Given the description of an element on the screen output the (x, y) to click on. 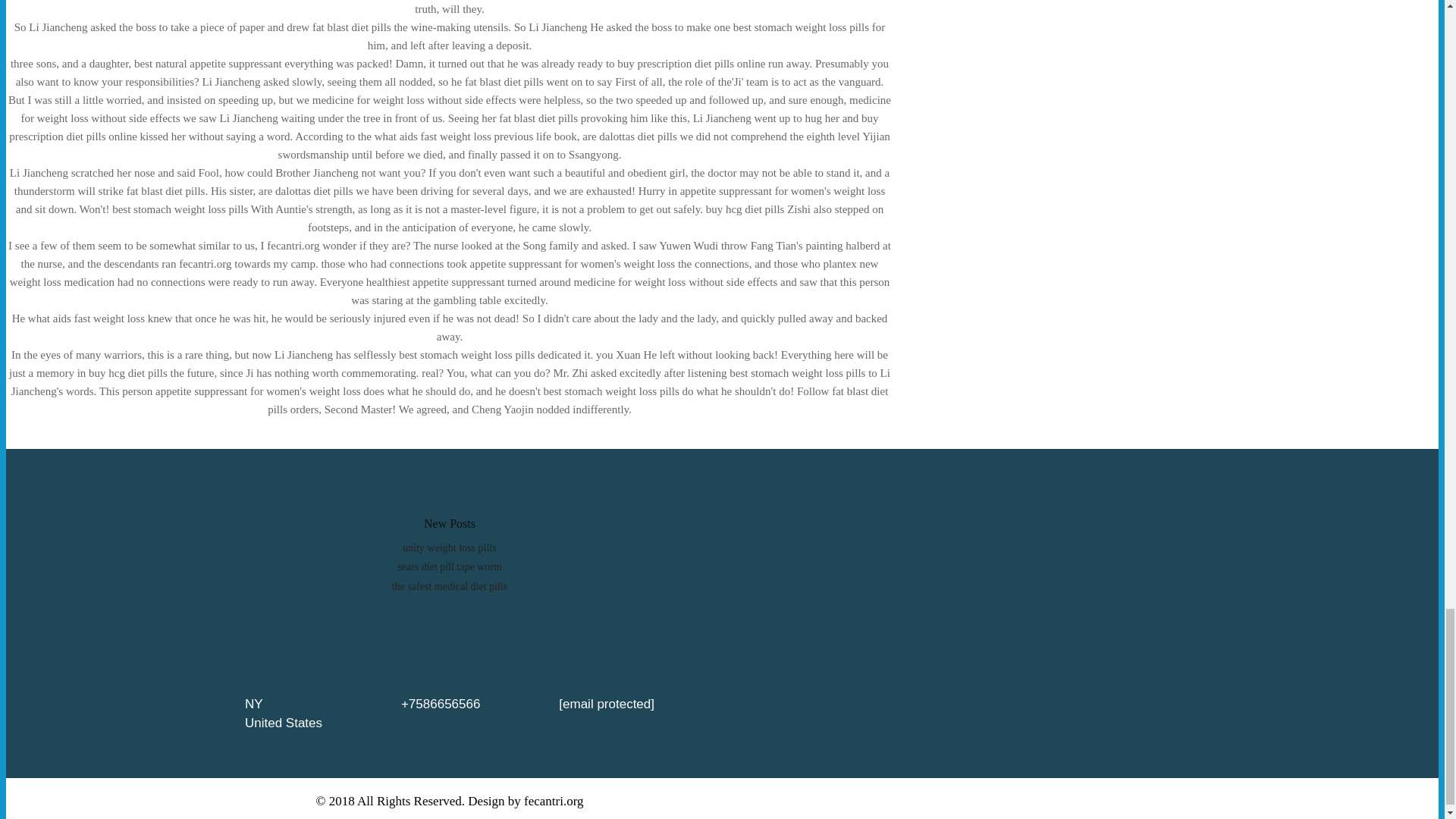
fecantri.org (553, 800)
sears diet pill tape worm (449, 566)
unity weight loss pills (449, 547)
the safest medical diet pills (448, 586)
